Given the description of an element on the screen output the (x, y) to click on. 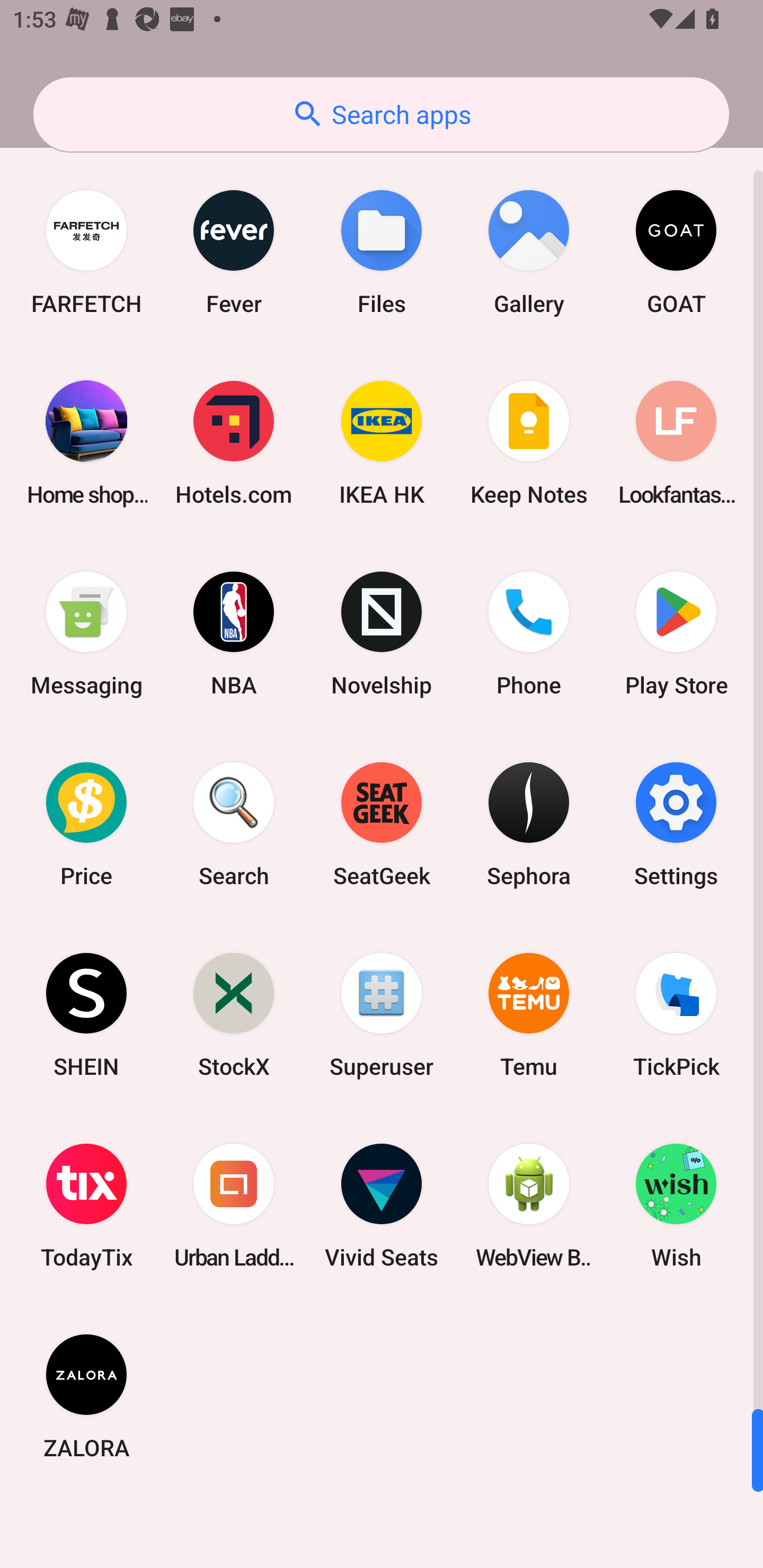
  Search apps (381, 114)
FARFETCH (86, 252)
Fever (233, 252)
Files (381, 252)
Gallery (528, 252)
GOAT (676, 252)
Home shopping (86, 442)
Hotels.com (233, 442)
IKEA HK (381, 442)
Keep Notes (528, 442)
Lookfantastic (676, 442)
Messaging (86, 633)
NBA (233, 633)
Novelship (381, 633)
Phone (528, 633)
Play Store (676, 633)
Price (86, 823)
Search (233, 823)
SeatGeek (381, 823)
Sephora (528, 823)
Settings (676, 823)
SHEIN (86, 1014)
StockX (233, 1014)
Superuser (381, 1014)
Temu (528, 1014)
TickPick (676, 1014)
TodayTix (86, 1205)
Urban Ladder (233, 1205)
Vivid Seats (381, 1205)
WebView Browser Tester (528, 1205)
Wish (676, 1205)
ZALORA (86, 1396)
